Given the description of an element on the screen output the (x, y) to click on. 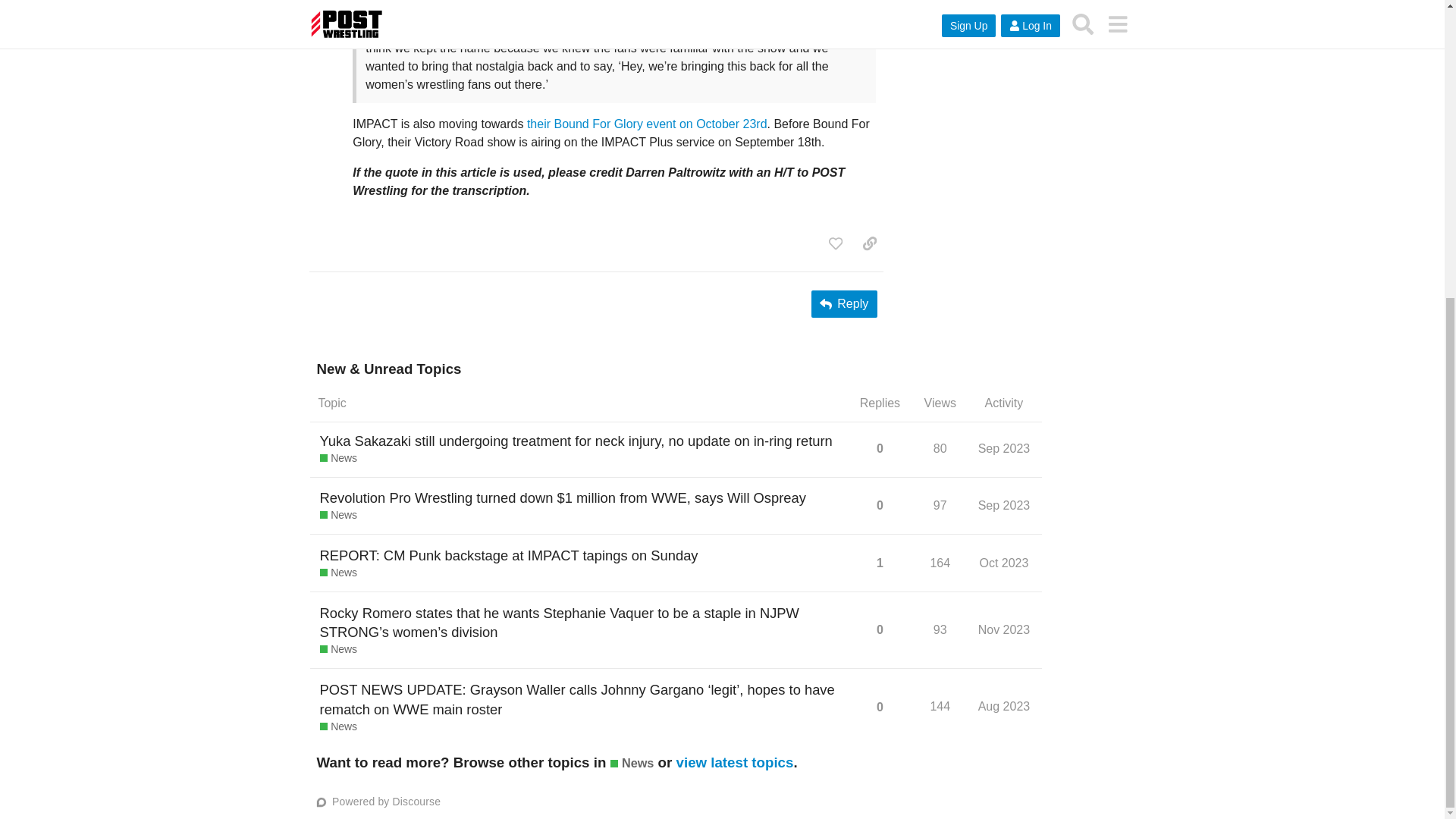
Reply (843, 303)
REPORT: CM Punk backstage at IMPACT tapings on Sunday (509, 555)
Sep 2023 (1003, 448)
News (338, 572)
copy a link to this post to clipboard (869, 243)
News (338, 515)
News (338, 649)
Oct 2023 (1003, 562)
like this post (835, 243)
this topic has been viewed 80 times (940, 448)
News (338, 726)
News (338, 458)
Sep 2023 (1003, 505)
